Given the description of an element on the screen output the (x, y) to click on. 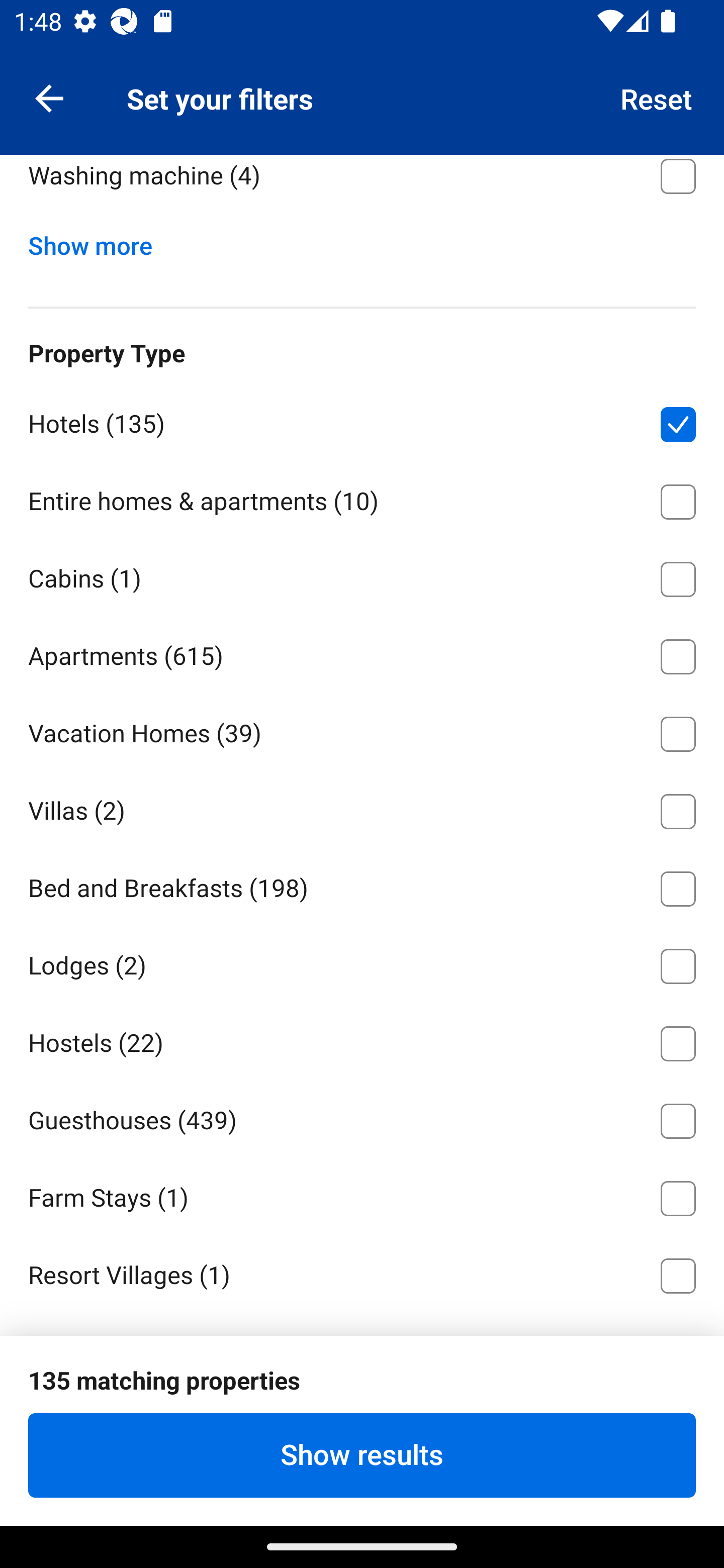
Navigate up (49, 97)
Kitchen/Kitchenette ⁦(11) (361, 95)
Reset (656, 97)
Washing machine ⁦(4) (361, 186)
Show more (97, 241)
Hotels ⁦(135) (361, 420)
Entire homes & apartments ⁦(10) (361, 498)
Cabins ⁦(1) (361, 575)
Apartments ⁦(615) (361, 652)
Vacation Homes ⁦(39) (361, 730)
Villas ⁦(2) (361, 807)
Bed and Breakfasts ⁦(198) (361, 884)
Lodges ⁦(2) (361, 962)
Hostels ⁦(22) (361, 1039)
Guesthouses ⁦(439) (361, 1117)
Farm Stays ⁦(1) (361, 1195)
Resort Villages ⁦(1) (361, 1272)
Show results (361, 1454)
